Given the description of an element on the screen output the (x, y) to click on. 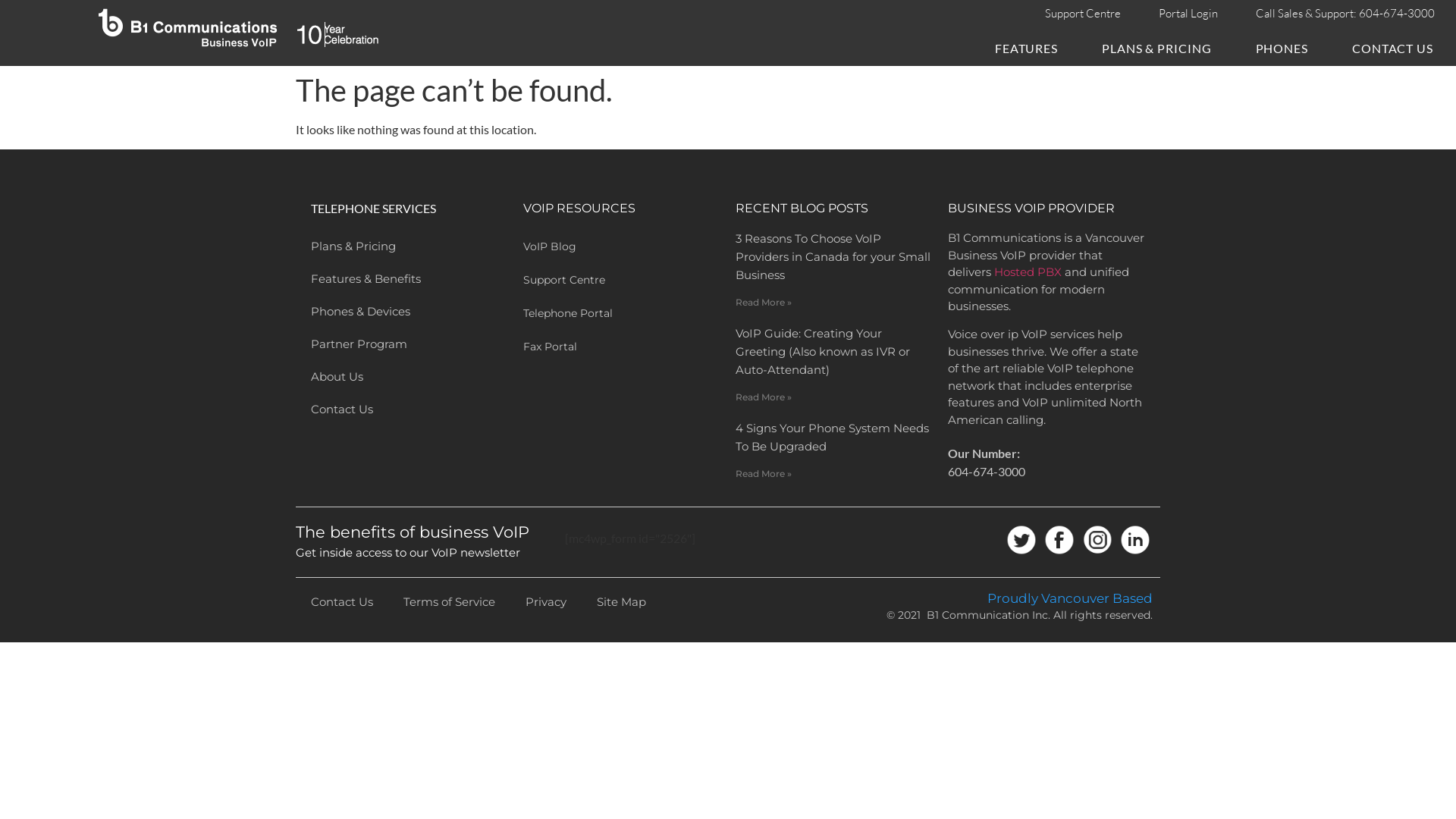
Telephone Portal Element type: text (621, 312)
Hosted PBX Element type: text (1027, 271)
CONTACT US Element type: text (1392, 48)
FEATURES Element type: text (1026, 48)
VoIP Blog Element type: text (621, 246)
Site Map Element type: text (621, 601)
4 Signs Your Phone System Needs To Be Upgraded Element type: text (831, 436)
Fax Portal Element type: text (621, 346)
Phones & Devices Element type: text (409, 310)
PHONES Element type: text (1281, 48)
About Us Element type: text (409, 376)
Contact Us Element type: text (341, 601)
PLANS & PRICING Element type: text (1156, 48)
Privacy Element type: text (545, 601)
Contact Us Element type: text (409, 408)
Terms of Service Element type: text (449, 601)
Partner Program Element type: text (409, 343)
Features & Benefits Element type: text (409, 278)
Support Centre Element type: text (621, 279)
Plans & Pricing Element type: text (409, 245)
